Given the description of an element on the screen output the (x, y) to click on. 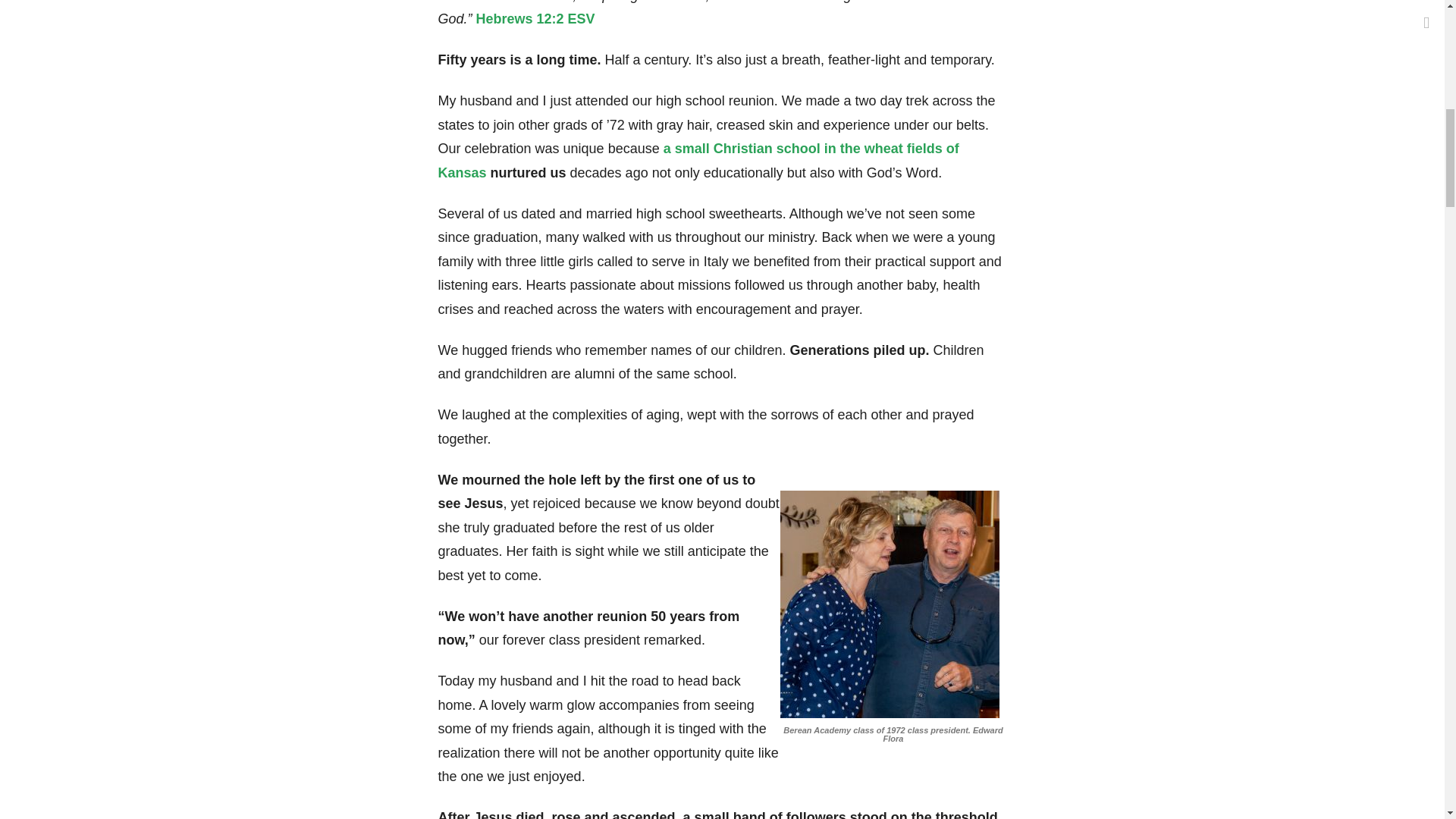
Hebrews 12:2 ESV (533, 18)
a small Christian school in the wheat fields of Kansas (698, 160)
